Given the description of an element on the screen output the (x, y) to click on. 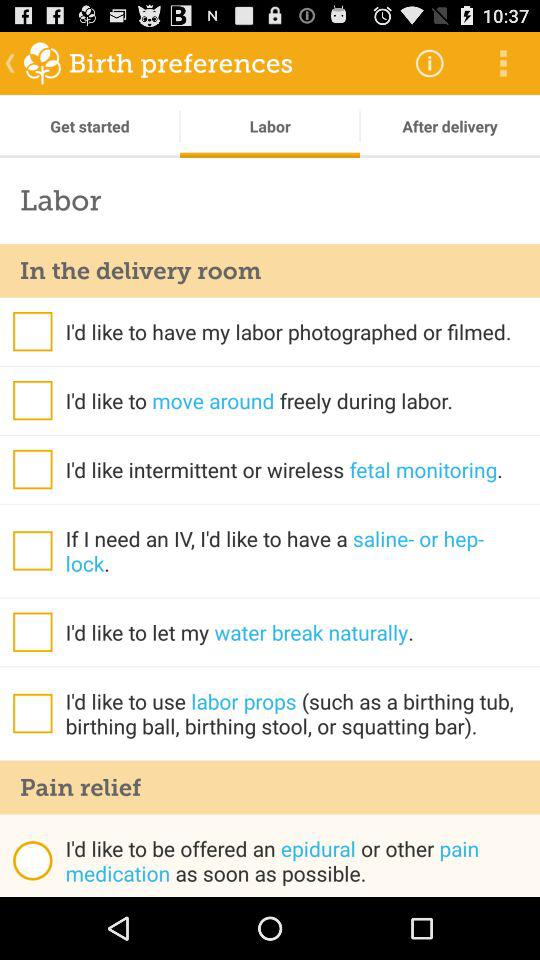
jump until if i need app (302, 550)
